Given the description of an element on the screen output the (x, y) to click on. 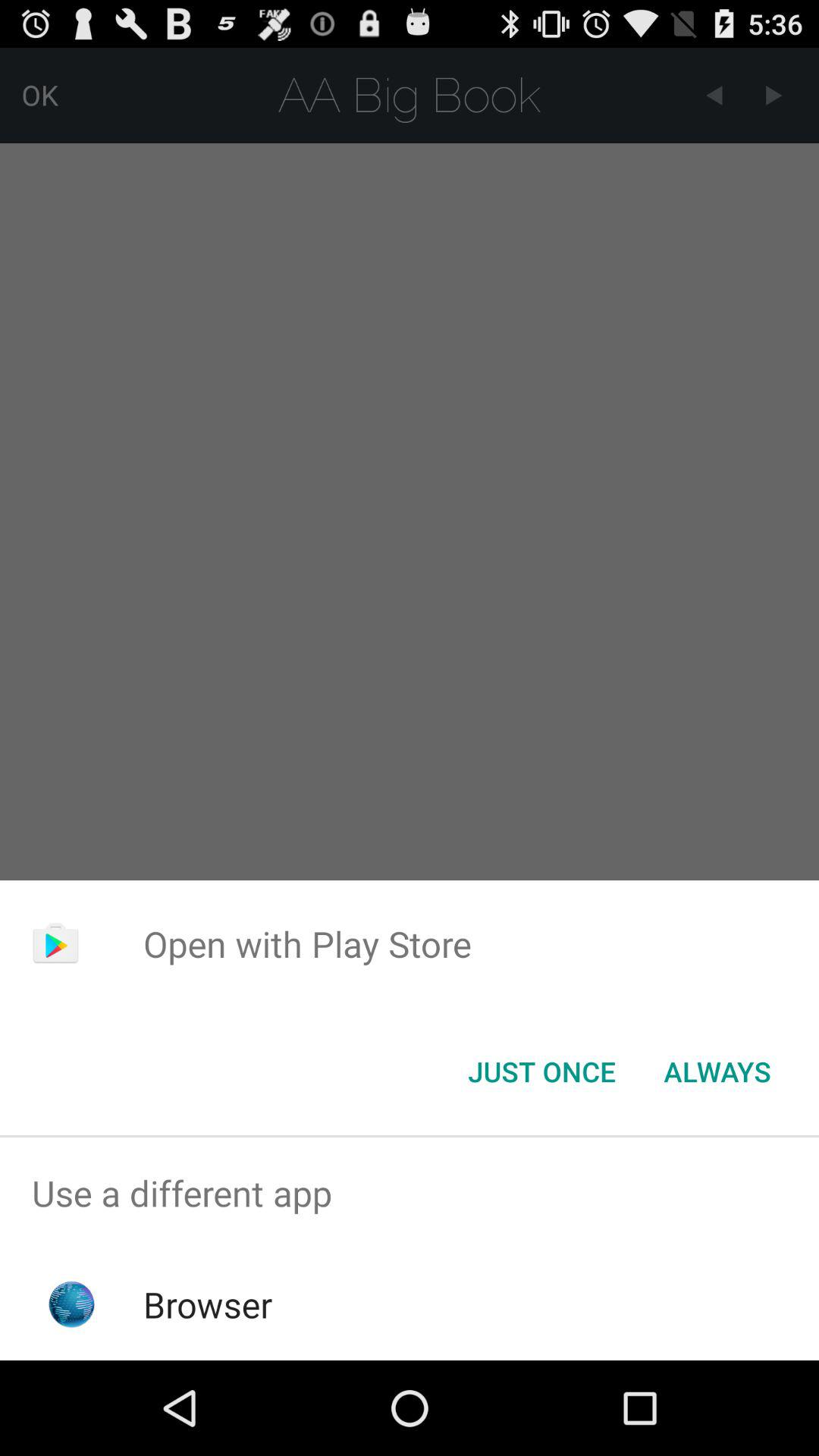
turn off icon to the left of the always (541, 1071)
